Given the description of an element on the screen output the (x, y) to click on. 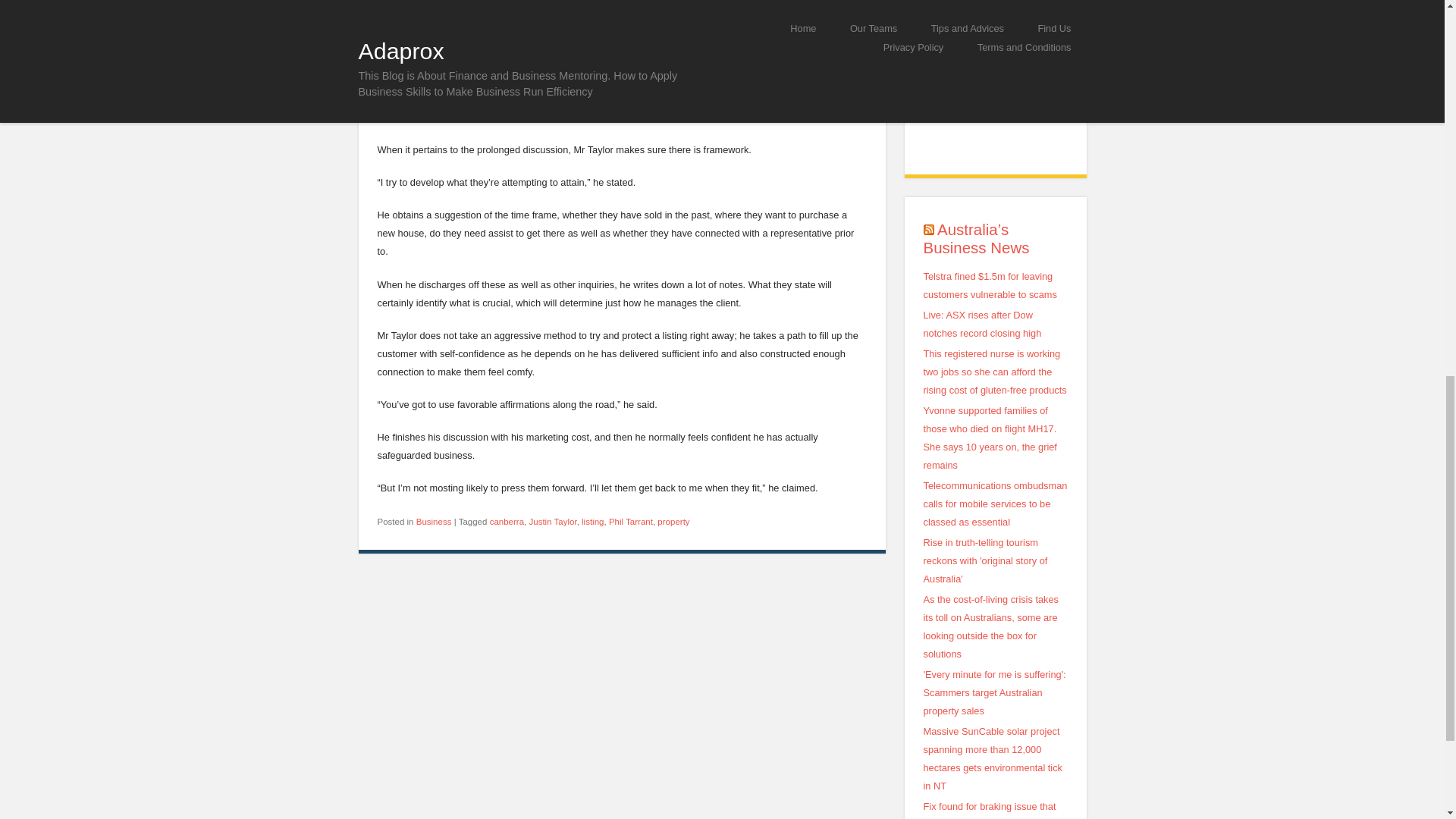
Live: ASX rises after Dow notches record closing high (982, 324)
listing (592, 521)
Phil Tarrant (630, 521)
Business (433, 521)
canberra (506, 521)
Justin Taylor (552, 521)
property (673, 521)
